Given the description of an element on the screen output the (x, y) to click on. 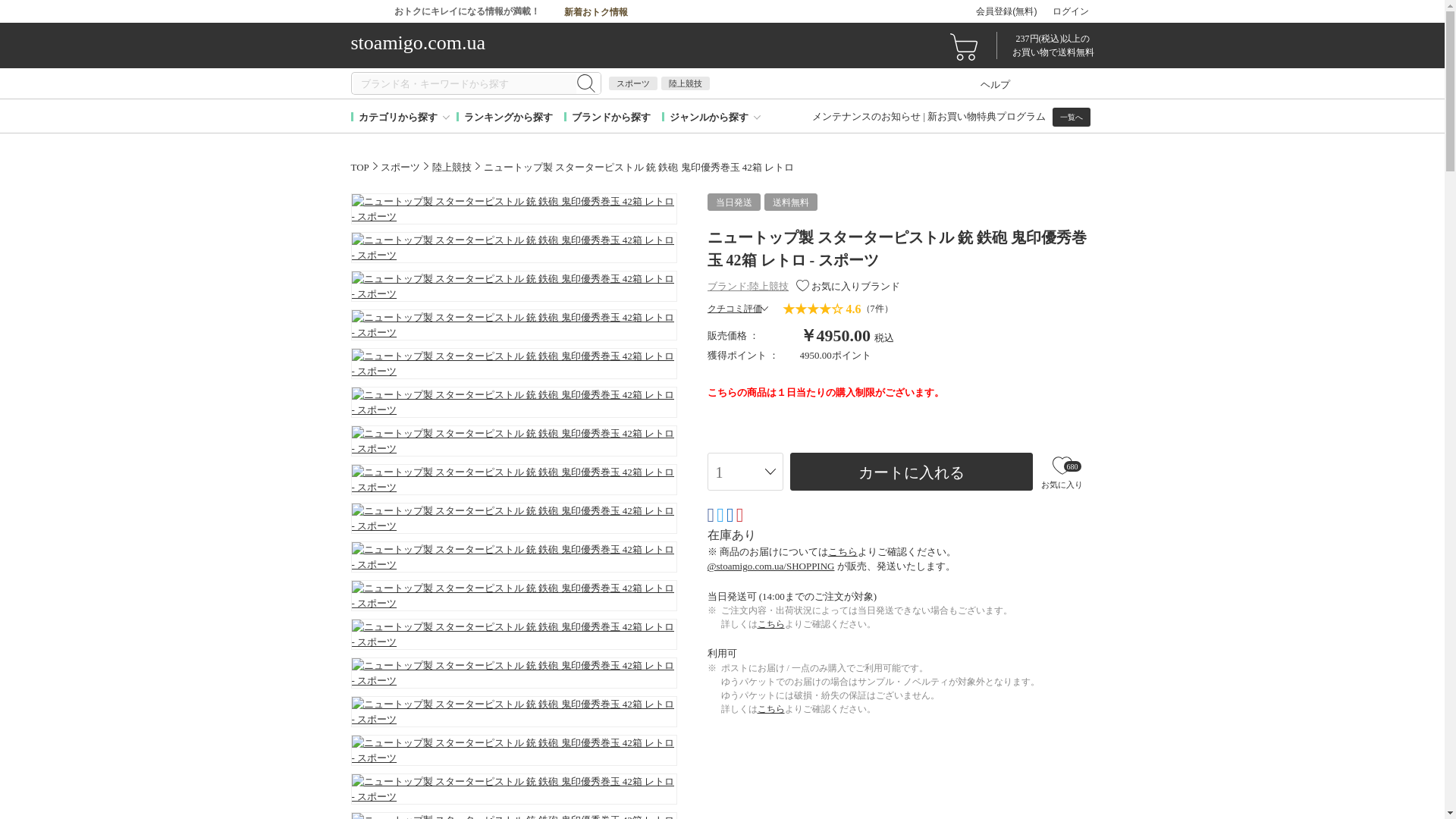
TOP (359, 165)
stoamigo.com.ua (539, 45)
